Given the description of an element on the screen output the (x, y) to click on. 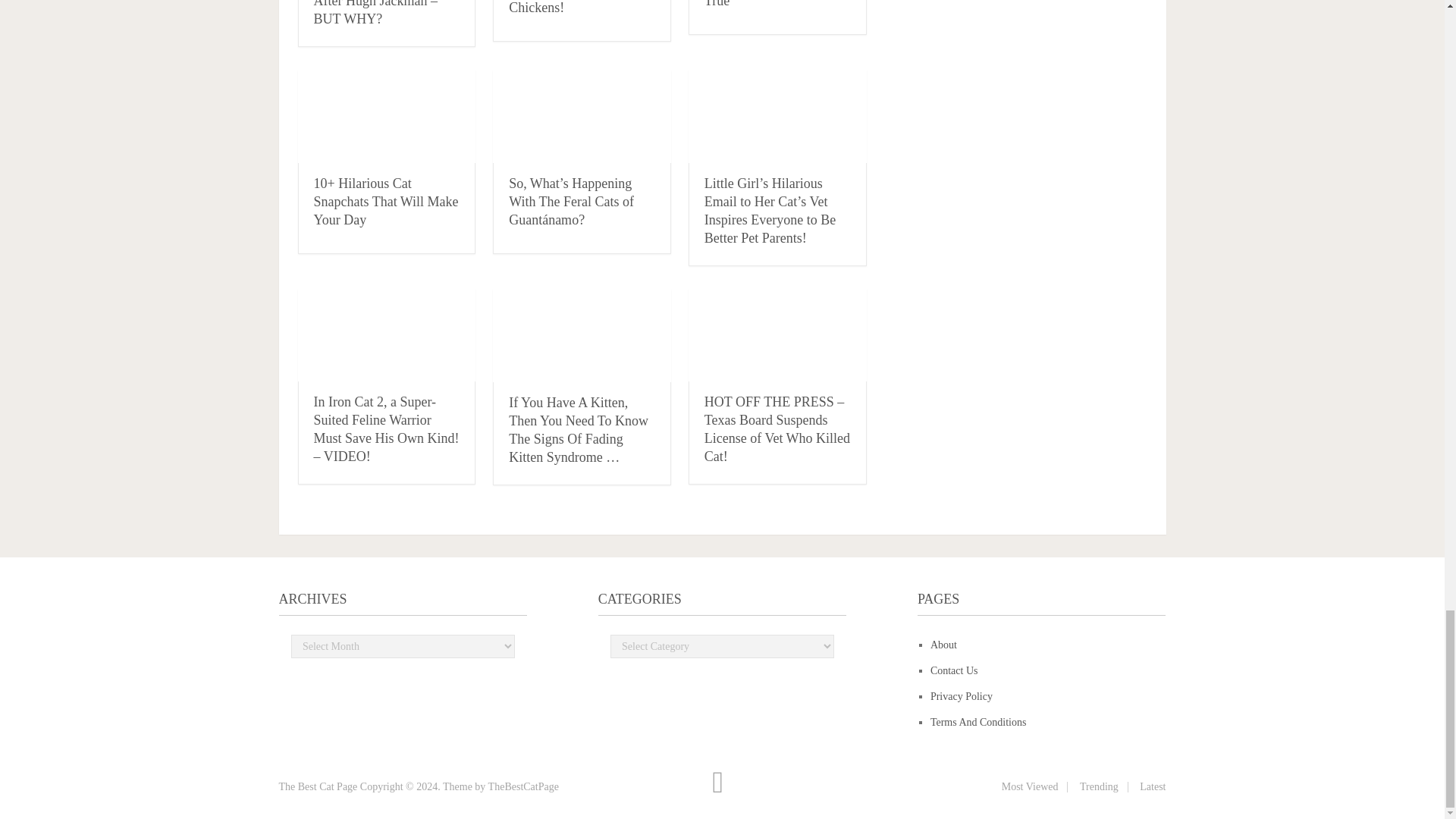
The 18 Things All Real Cat Lovers Know To Be True (770, 4)
Kitten Found Cooped Up and Cuddling Up to Chickens! (577, 7)
Kitten Found Cooped Up and Cuddling Up to Chickens! (577, 7)
The 18 Things All Real Cat Lovers Know To Be True (770, 4)
